Given the description of an element on the screen output the (x, y) to click on. 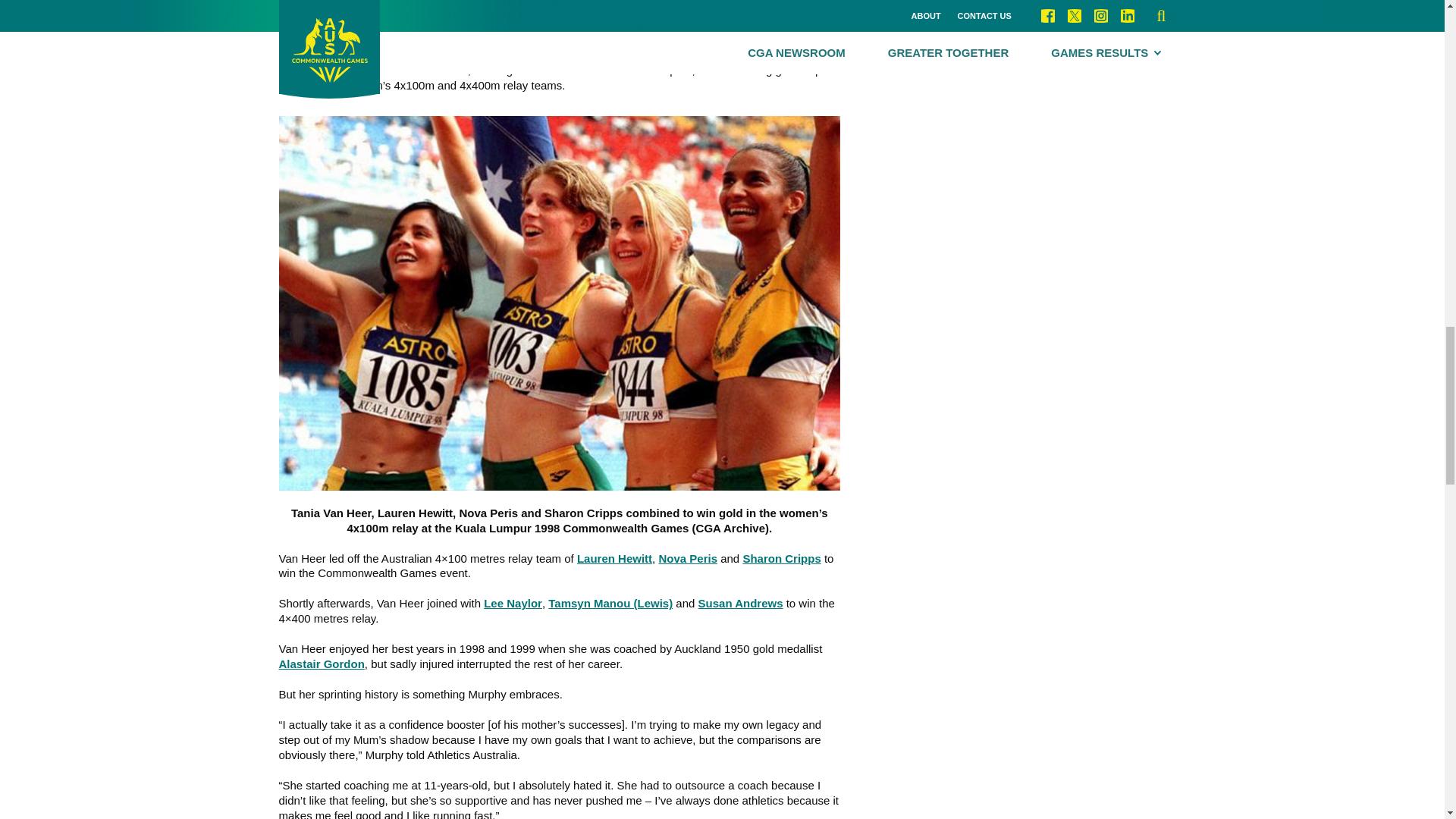
Nova Peris (687, 558)
Sharon Cripps (781, 558)
Lauren Hewitt (614, 558)
Lee Naylor (512, 603)
Alastair Gordon (322, 663)
Susan Andrews (740, 603)
